Given the description of an element on the screen output the (x, y) to click on. 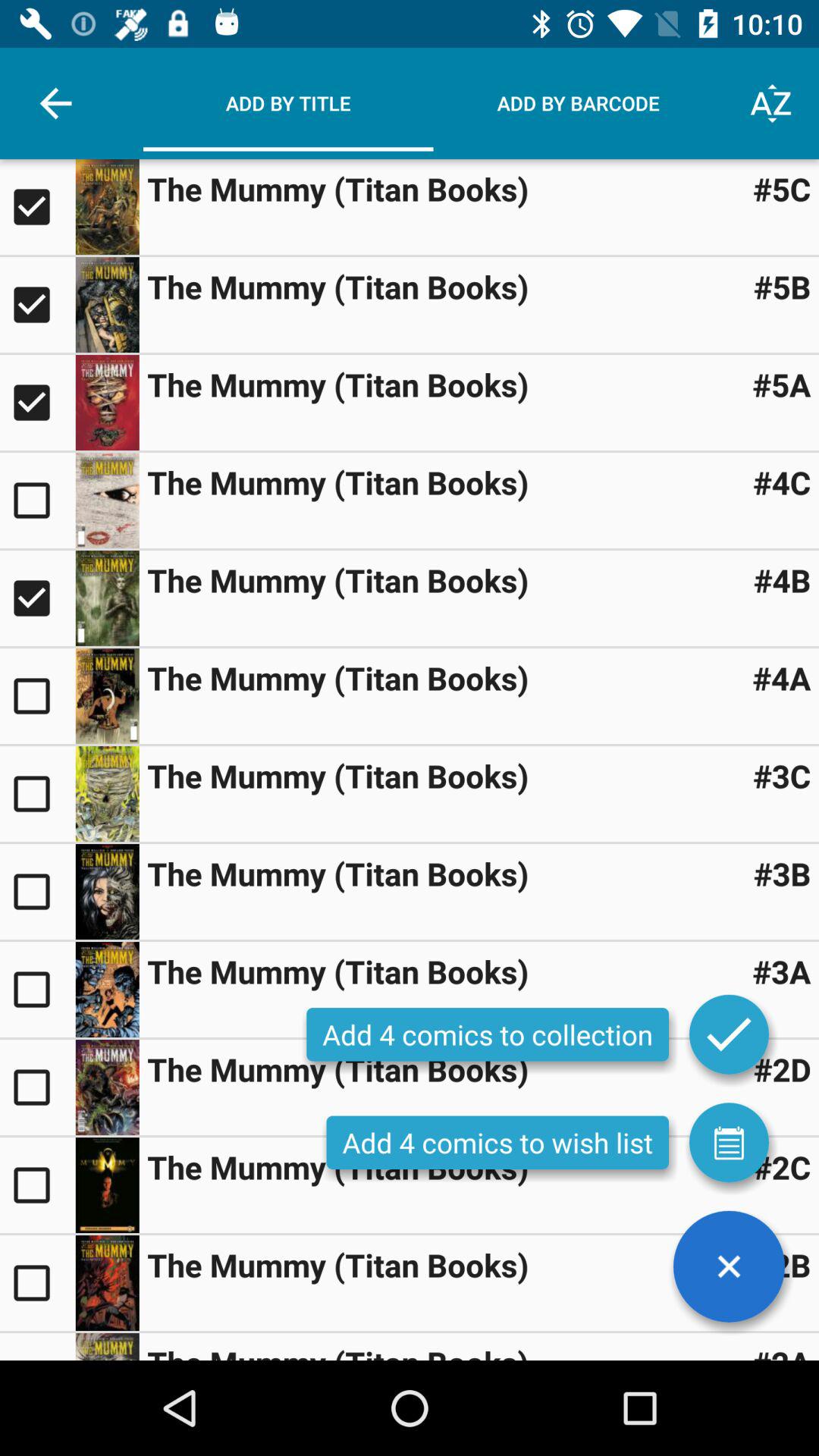
uncheck the box (37, 402)
